Given the description of an element on the screen output the (x, y) to click on. 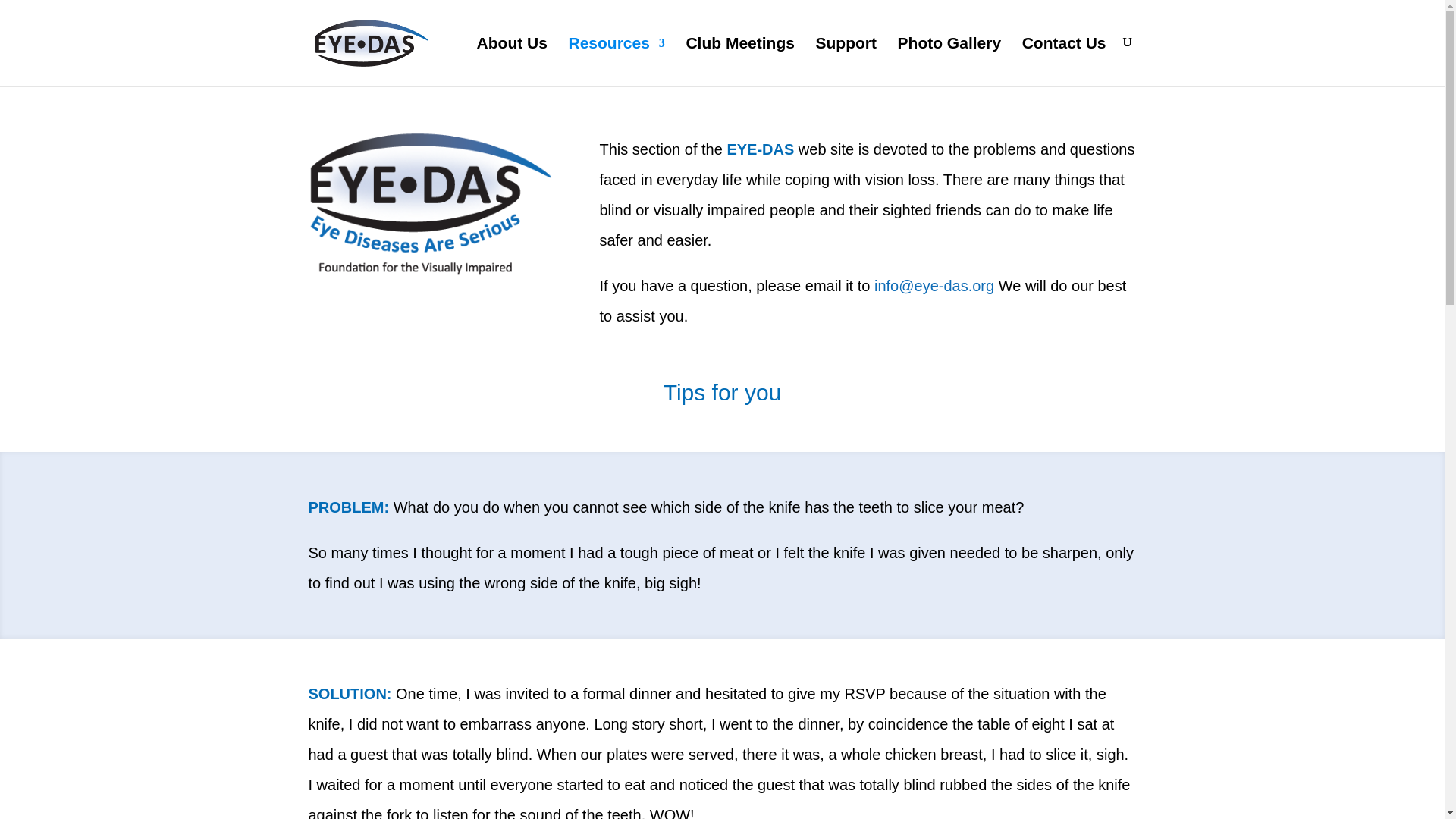
Resources (615, 61)
About Us (512, 61)
Contact Us (1064, 61)
Support (845, 61)
Photo Gallery (949, 61)
Club Meetings (739, 61)
